Given the description of an element on the screen output the (x, y) to click on. 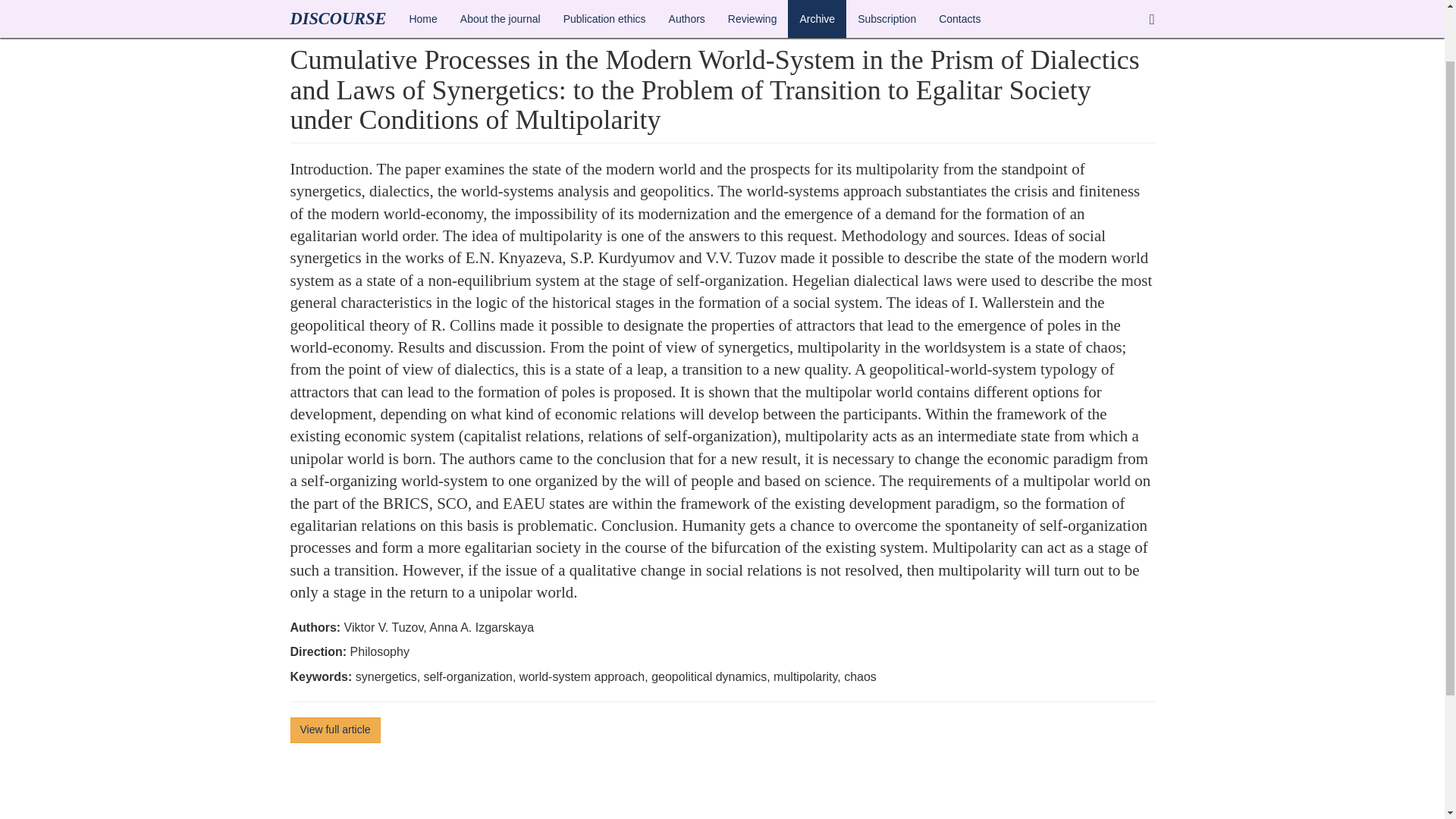
Volume 9, 2023 (402, 3)
En (295, 3)
Archive of issues of the journal (333, 3)
Volume 9, 2023 (402, 3)
View full article (334, 729)
Archive (333, 3)
En (295, 3)
